Given the description of an element on the screen output the (x, y) to click on. 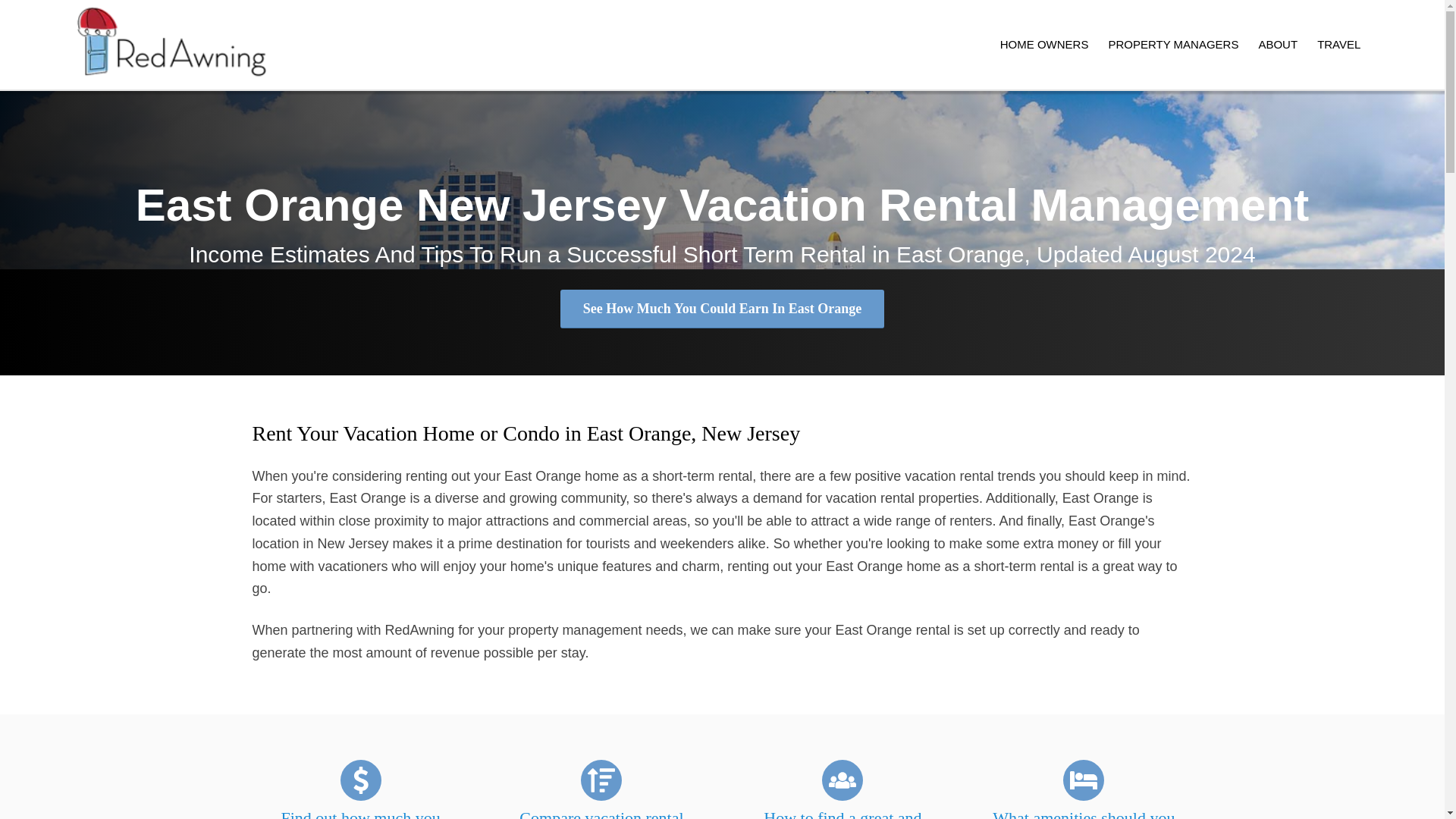
PROPERTY MANAGERS (1172, 44)
RedAwning (171, 44)
HOME OWNERS (1044, 44)
